Given the description of an element on the screen output the (x, y) to click on. 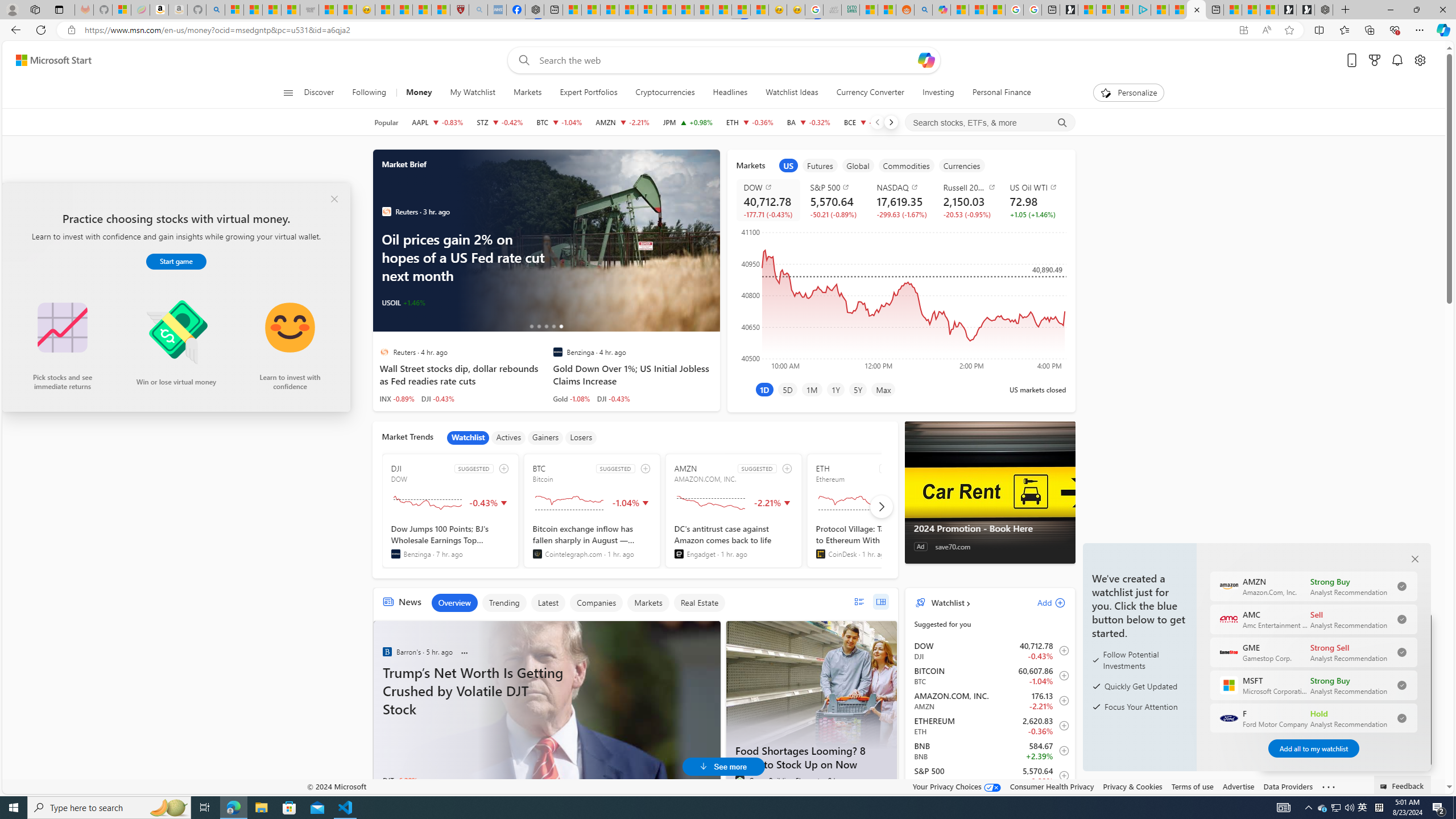
Class: feedback_link_icon-DS-EntryPoint1-1 (1384, 786)
NCL Adult Asthma Inhaler Choice Guideline - Sleeping (497, 9)
Dow Jumps 100 Points; BJ's Wholesale Earnings Top Estimates (449, 540)
S&P 500 INX decrease 5,570.64 -50.21 -0.89% (834, 200)
Add to Watchlist (1061, 775)
Copilot (Ctrl+Shift+.) (1442, 29)
Cointelegraph.com (536, 553)
Engadget (679, 553)
BTC Bitcoin decrease 60,607.86 -629.74 -1.04% item1 (989, 675)
Microsoft Start (53, 60)
Cryptocurrencies (665, 92)
Previous (876, 122)
Open Copilot (926, 59)
Privacy & Cookies (1131, 785)
Minimize (1390, 9)
